Given the description of an element on the screen output the (x, y) to click on. 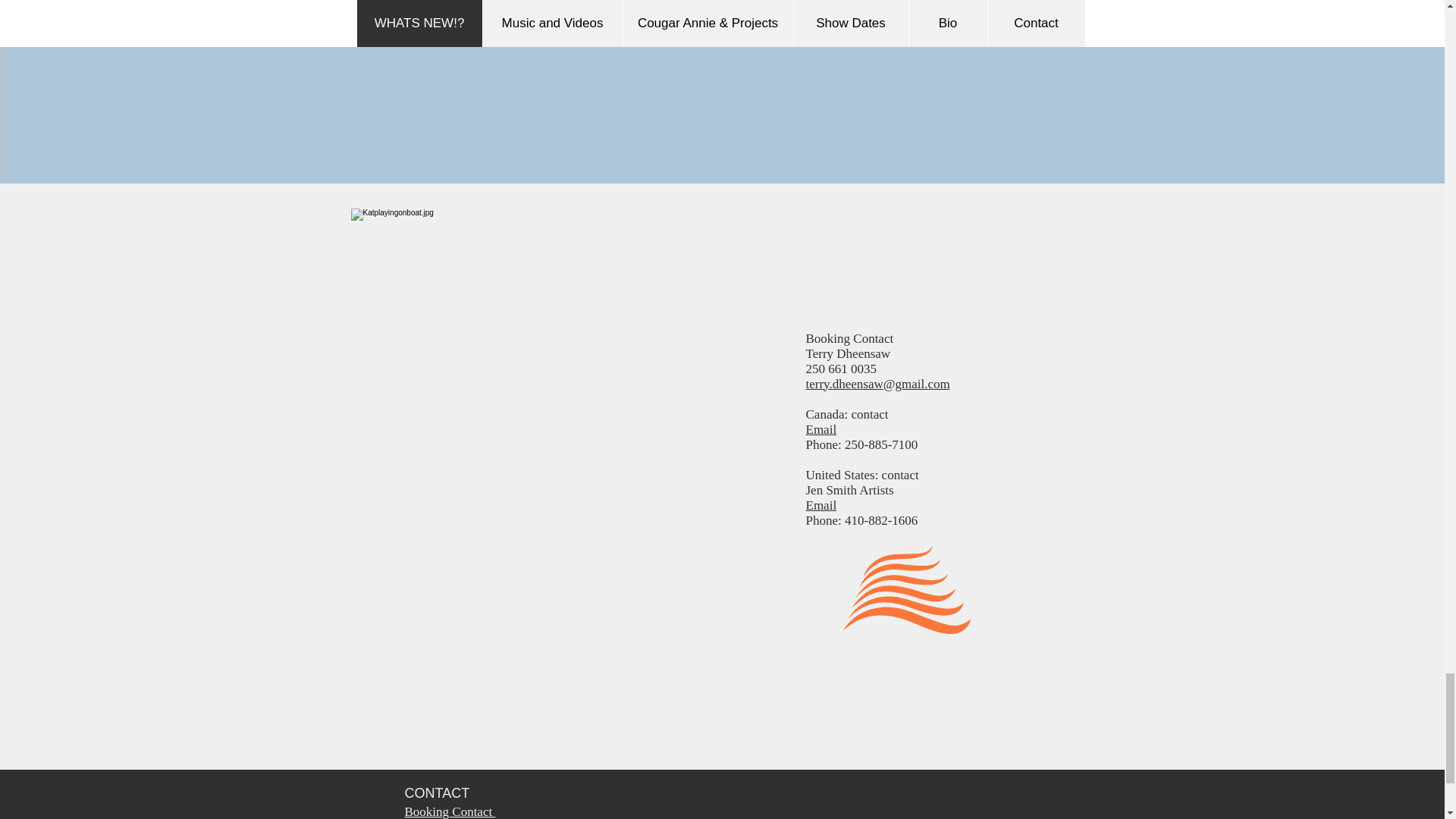
Canada: contact (846, 414)
Terry Dheensaw (847, 353)
250 661 0035 (840, 368)
Booking Contact  (450, 811)
Email (820, 504)
Booking Contact (849, 338)
Email (846, 437)
